Given the description of an element on the screen output the (x, y) to click on. 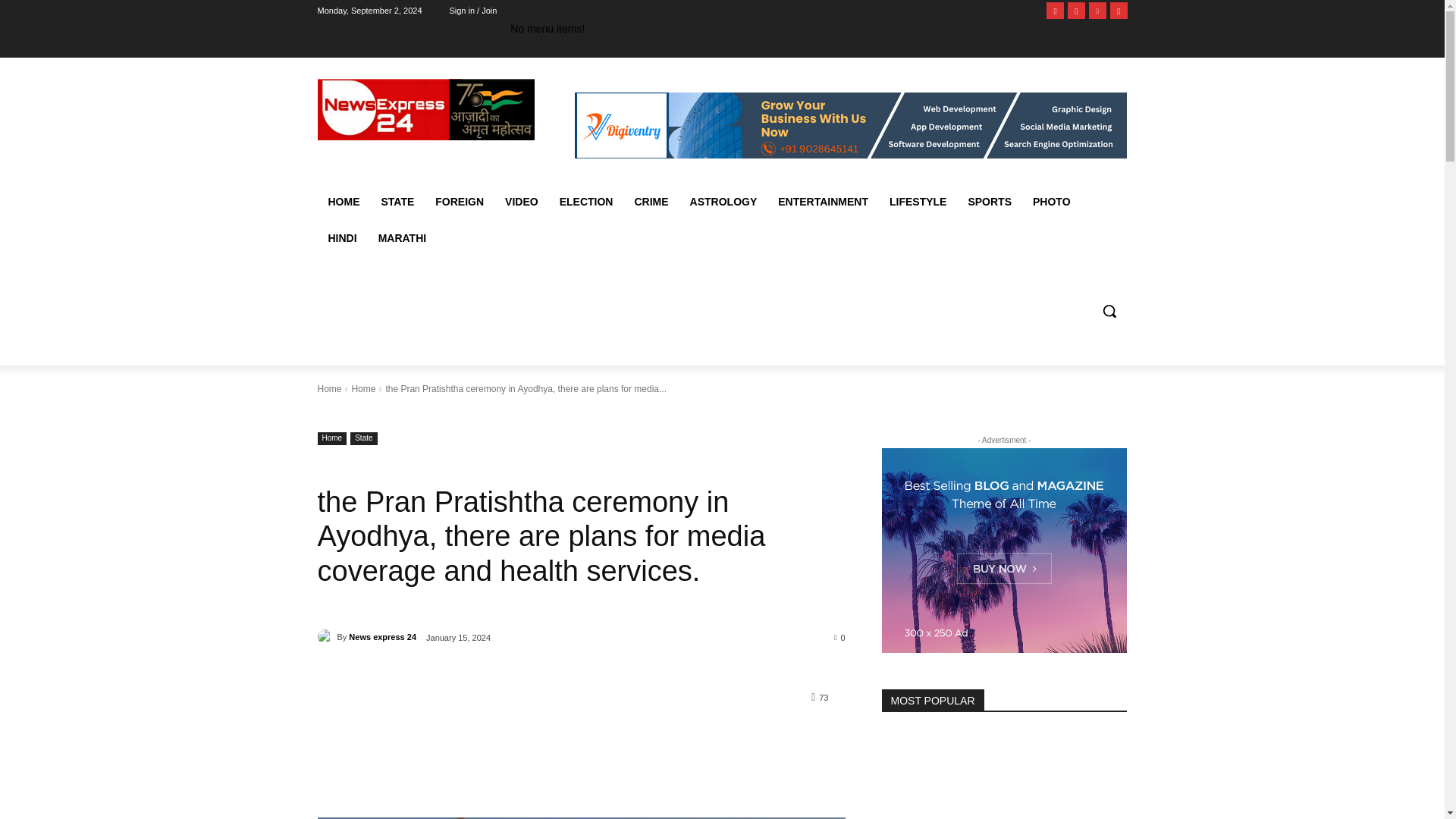
HOME (343, 201)
ENTERTAINMENT (823, 201)
CRIME (650, 201)
Youtube (1117, 9)
Instagram (1075, 9)
STATE (397, 201)
ASTROLOGY (723, 201)
LIFESTYLE (917, 201)
Twitter (1097, 9)
FOREIGN (460, 201)
